Given the description of an element on the screen output the (x, y) to click on. 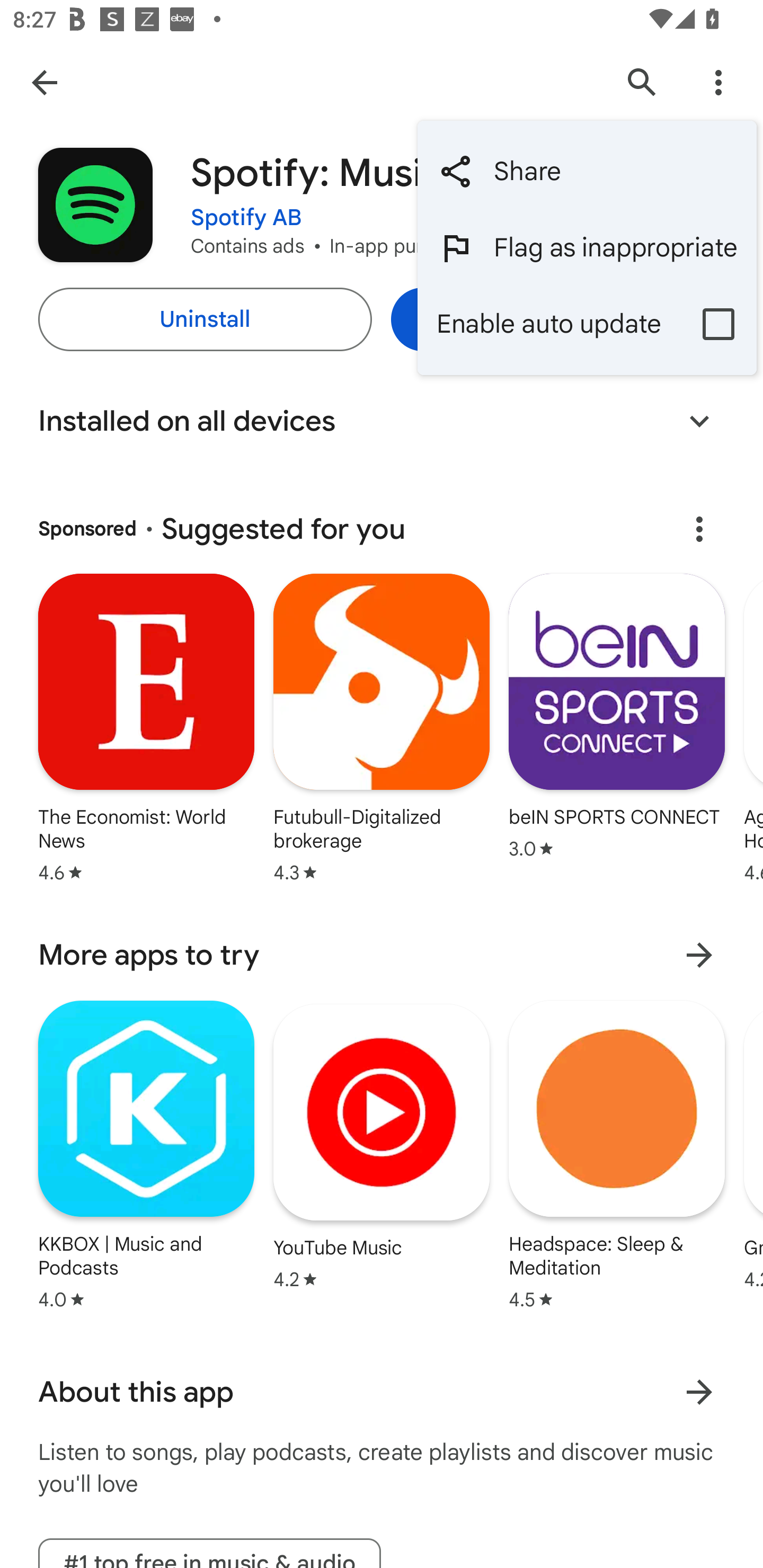
Share (586, 171)
Flag as inappropriate (586, 247)
Not checked Enable auto update (586, 323)
